Given the description of an element on the screen output the (x, y) to click on. 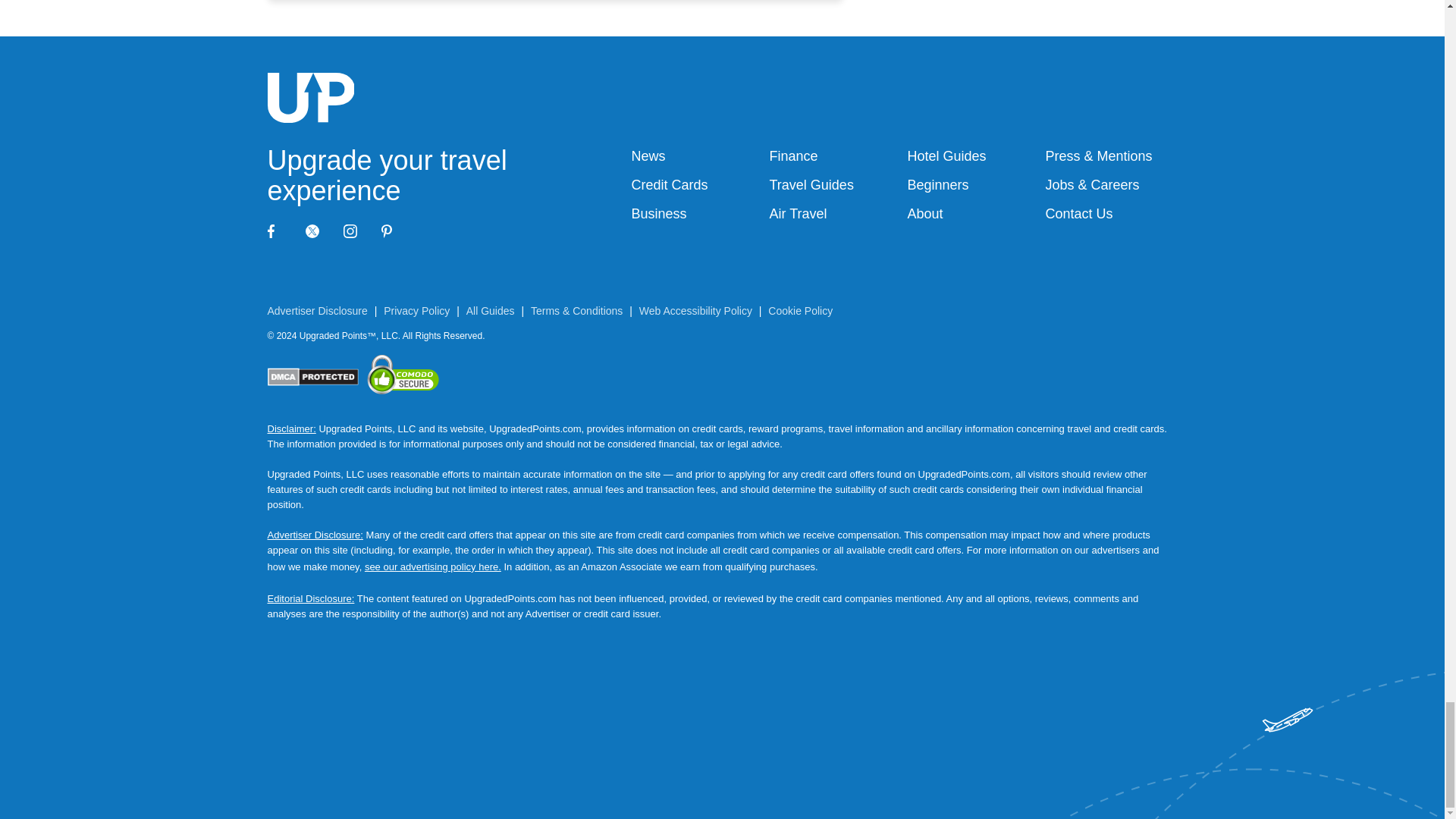
DMCA.com Protection Status (312, 377)
